Given the description of an element on the screen output the (x, y) to click on. 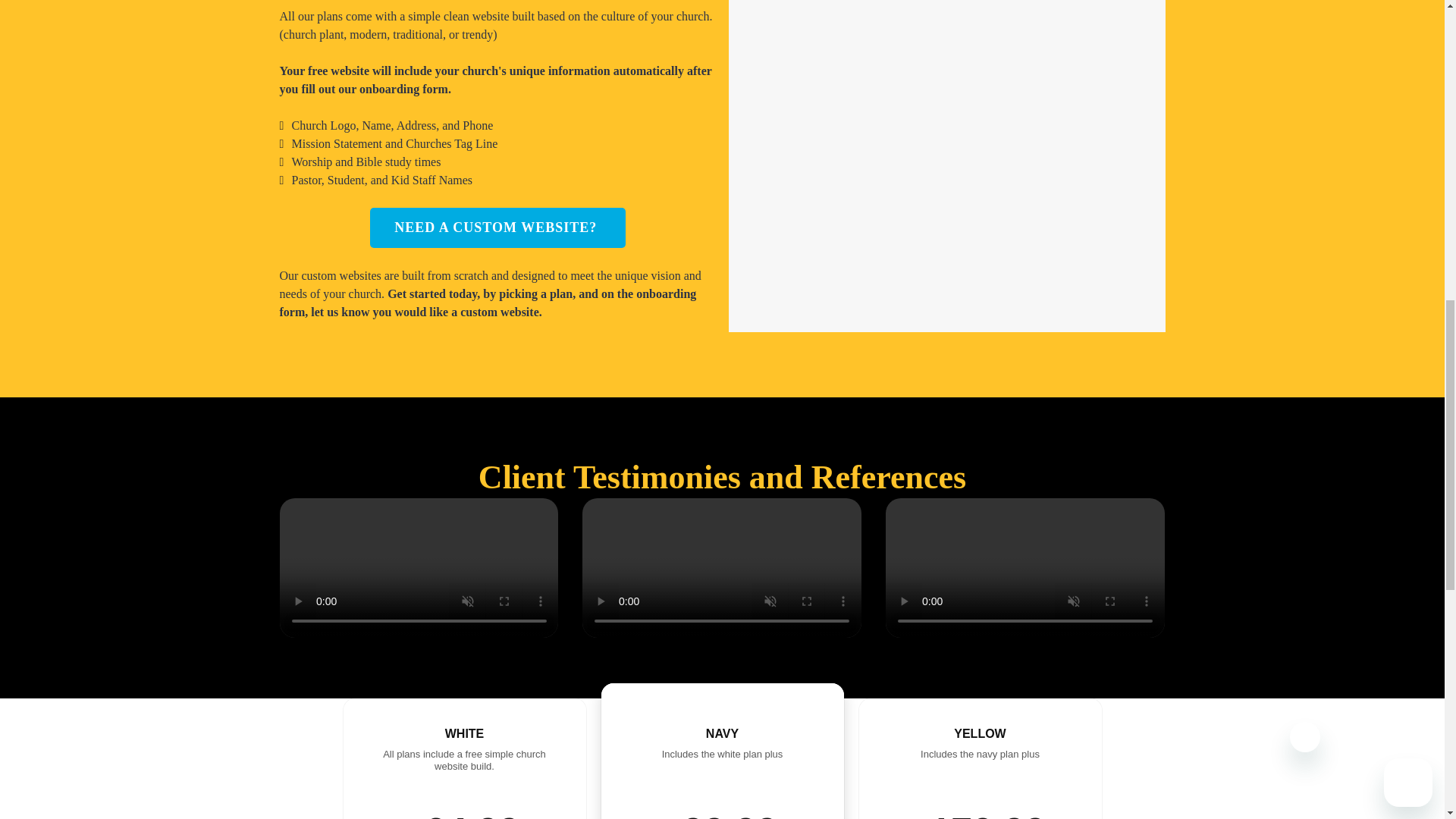
NEED A CUSTOM WEBSITE?  (496, 228)
onboarding form.  (406, 88)
onboarding (665, 293)
